Given the description of an element on the screen output the (x, y) to click on. 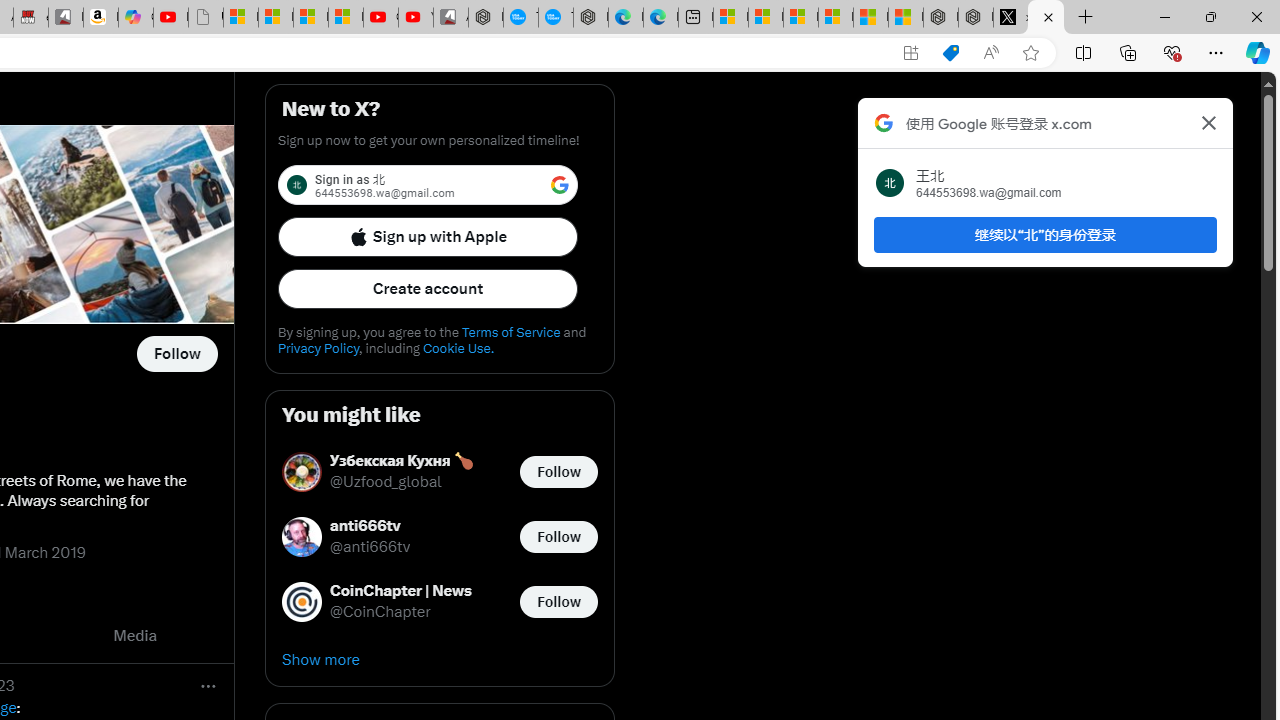
Follow @Uzfood_global (558, 471)
@anti666tv (370, 547)
Media (135, 636)
Nordace (@NordaceOfficial) / X (1046, 17)
